Given the description of an element on the screen output the (x, y) to click on. 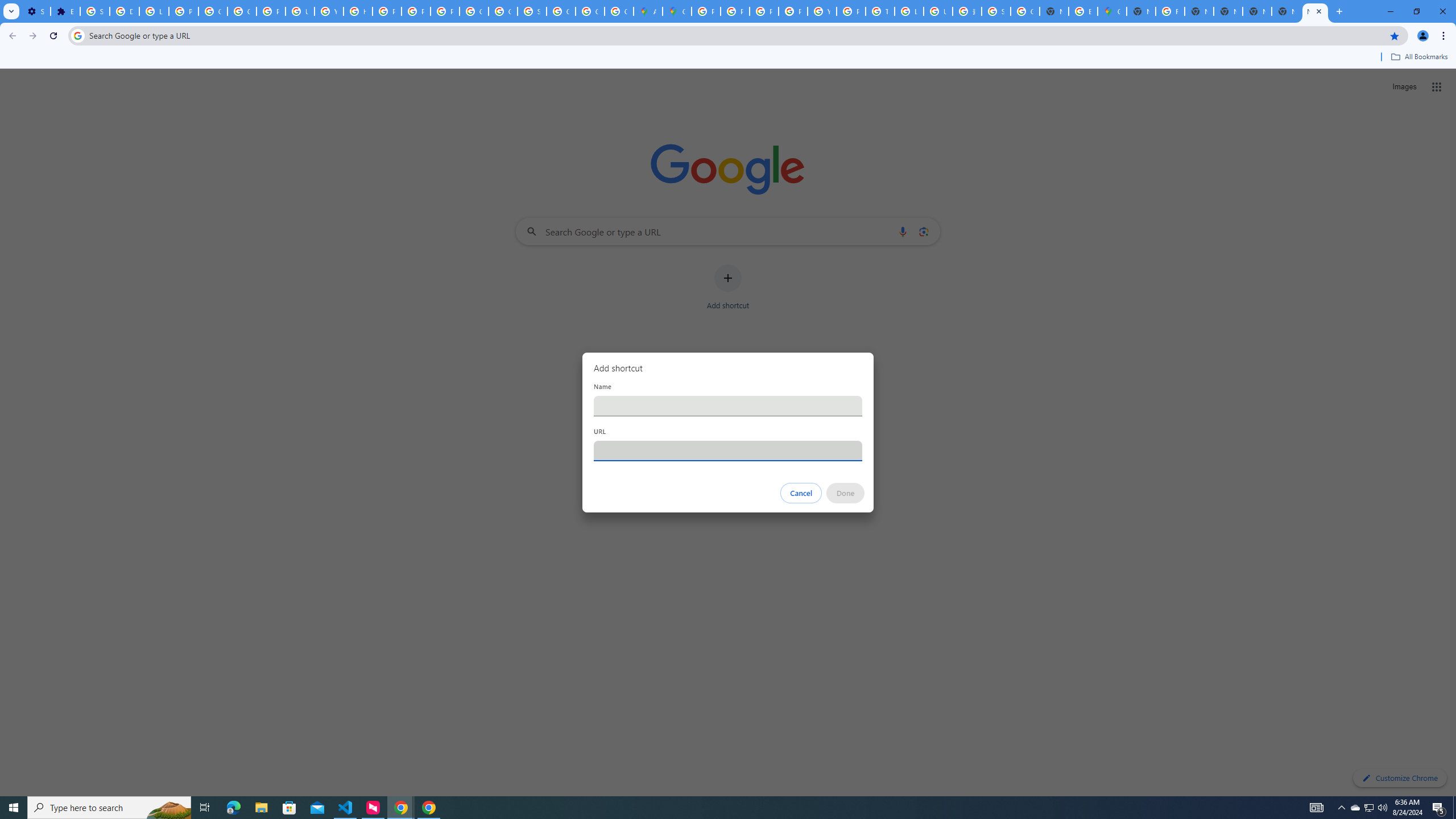
YouTube (821, 11)
Google Maps (677, 11)
Sign in - Google Accounts (996, 11)
https://scholar.google.com/ (357, 11)
YouTube (327, 11)
New Tab (1286, 11)
Delete photos & videos - Computer - Google Photos Help (124, 11)
